Given the description of an element on the screen output the (x, y) to click on. 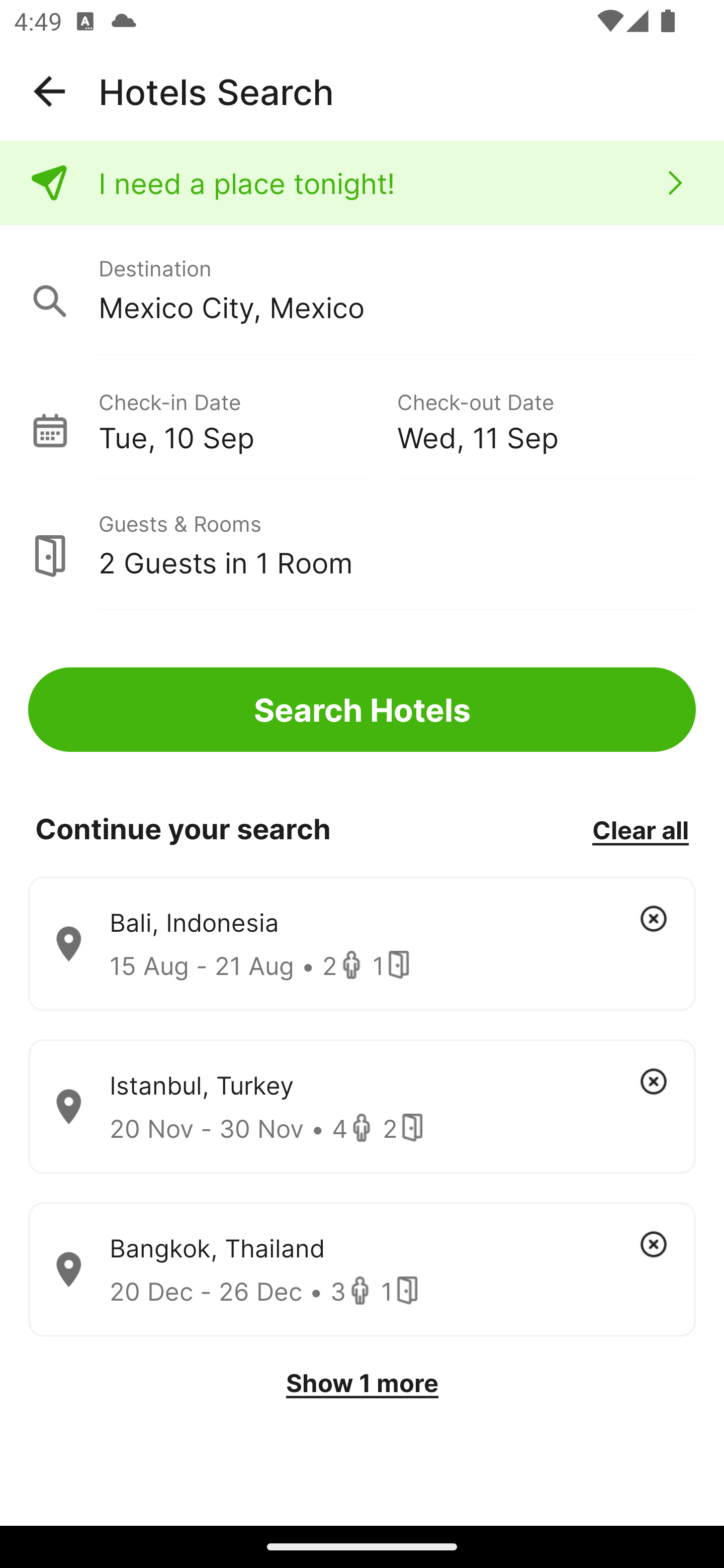
I need a place tonight! (362, 183)
Destination Mexico City, Mexico (362, 290)
Check-in Date Tue, 10 Sep (247, 418)
Check-out Date Wed, 11 Sep (546, 418)
Guests & Rooms 2 Guests in 1 Room (362, 545)
Search Hotels (361, 709)
Clear all (640, 829)
Bali, Indonesia 15 Aug - 21 Aug • 2  1  (361, 943)
Istanbul, Turkey 20 Nov - 30 Nov • 4  2  (361, 1106)
Bangkok, Thailand 20 Dec - 26 Dec • 3  1  (361, 1269)
Show 1 more (362, 1382)
